Given the description of an element on the screen output the (x, y) to click on. 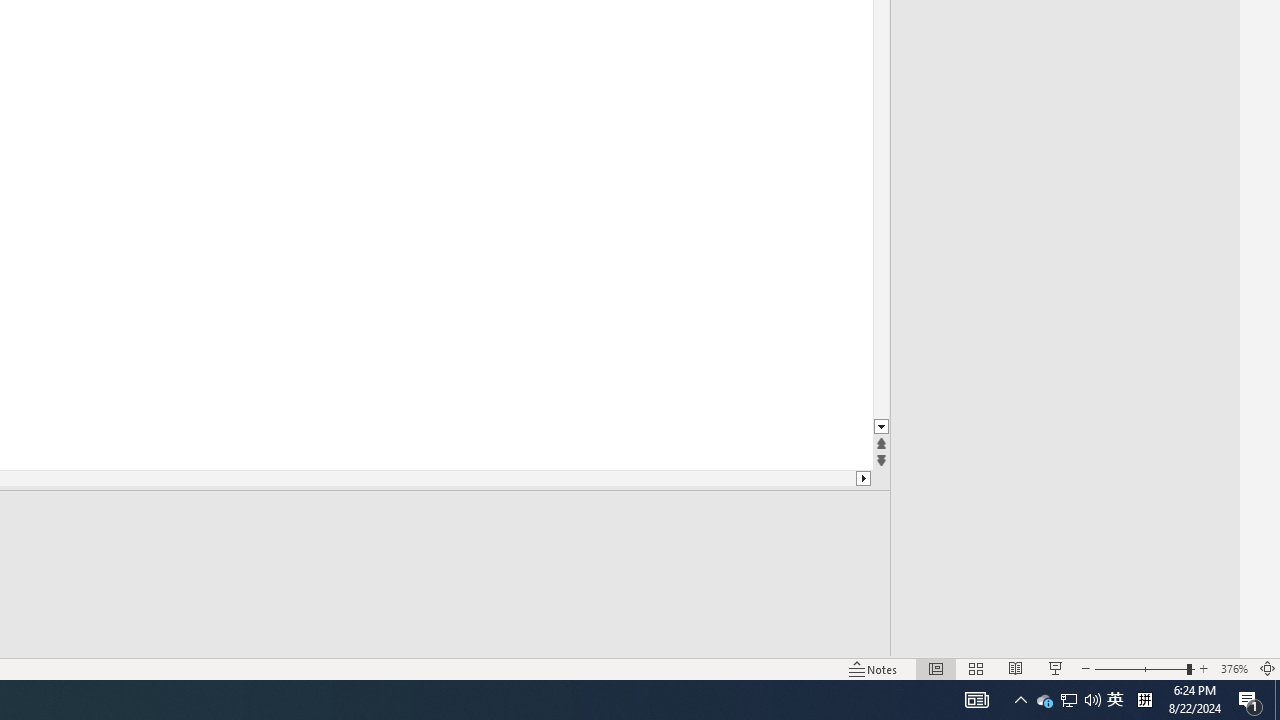
Zoom 95% (1249, 640)
